Given the description of an element on the screen output the (x, y) to click on. 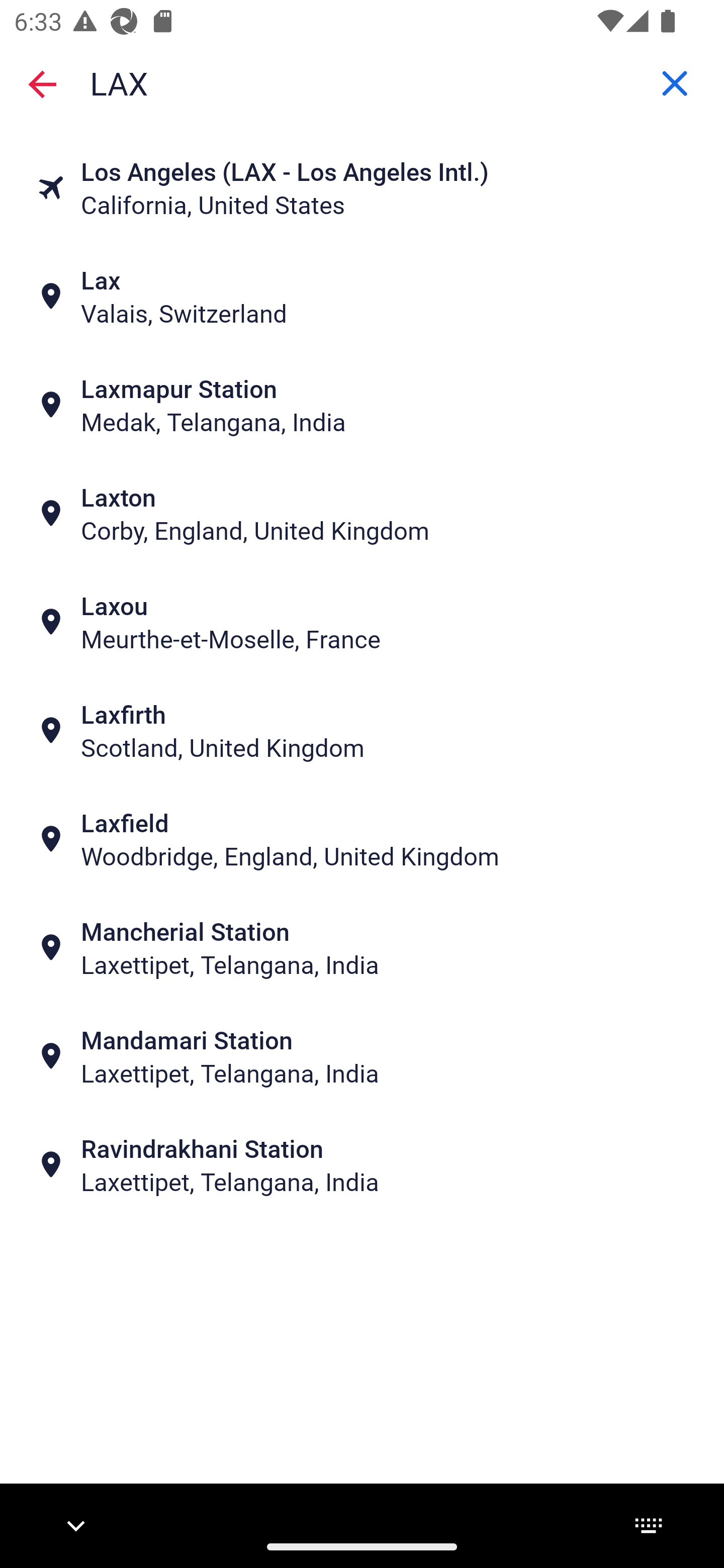
Clear Pick-up (674, 82)
Pick-up, LAX (361, 82)
Close search screen (41, 83)
